Given the description of an element on the screen output the (x, y) to click on. 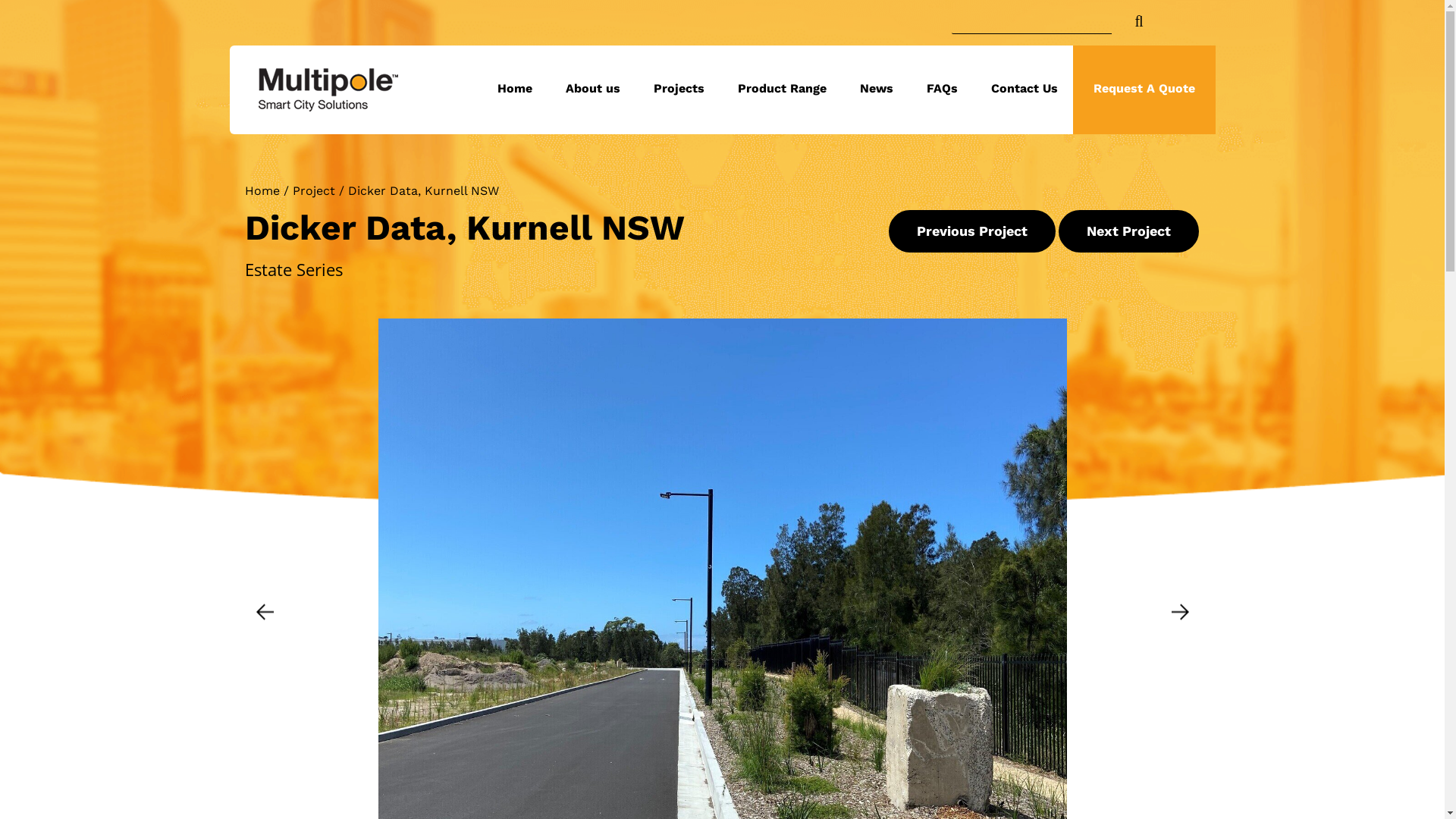
Home Element type: text (514, 89)
Home Element type: text (261, 191)
Previous Element type: text (264, 611)
About us Element type: text (592, 89)
Previous Project Element type: text (971, 231)
News Element type: text (876, 89)
Next Element type: text (1179, 611)
Next Project Element type: text (1128, 231)
Product Range Element type: text (781, 89)
Contact Us Element type: text (1024, 89)
Project Element type: text (313, 191)
Request A Quote Element type: text (1143, 89)
FAQs Element type: text (941, 89)
Search Element type: text (1156, 16)
Projects Element type: text (678, 89)
